Given the description of an element on the screen output the (x, y) to click on. 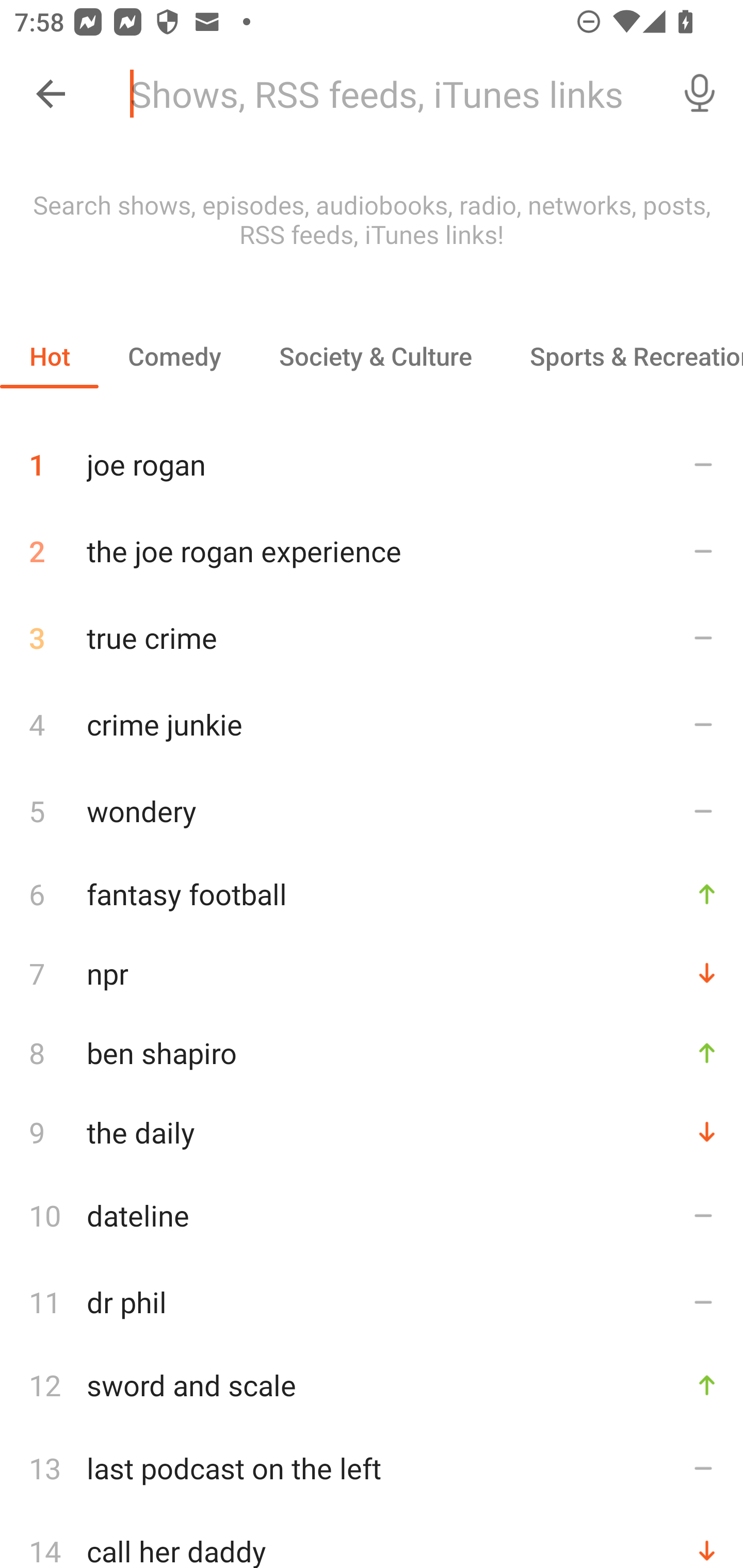
Collapse (50, 93)
Voice Search (699, 93)
Shows, RSS feeds, iTunes links (385, 94)
Hot (49, 355)
Comedy (173, 355)
Society & Culture (374, 355)
Sports & Recreation (621, 355)
1 joe rogan (371, 457)
2 the joe rogan experience (371, 551)
3 true crime (371, 637)
4 crime junkie (371, 723)
5 wondery (371, 810)
6 fantasy football (371, 893)
7 npr (371, 972)
8 ben shapiro (371, 1052)
9 the daily (371, 1131)
10 dateline (371, 1215)
11 dr phil (371, 1302)
12 sword and scale (371, 1385)
13 last podcast on the left (371, 1468)
